Given the description of an element on the screen output the (x, y) to click on. 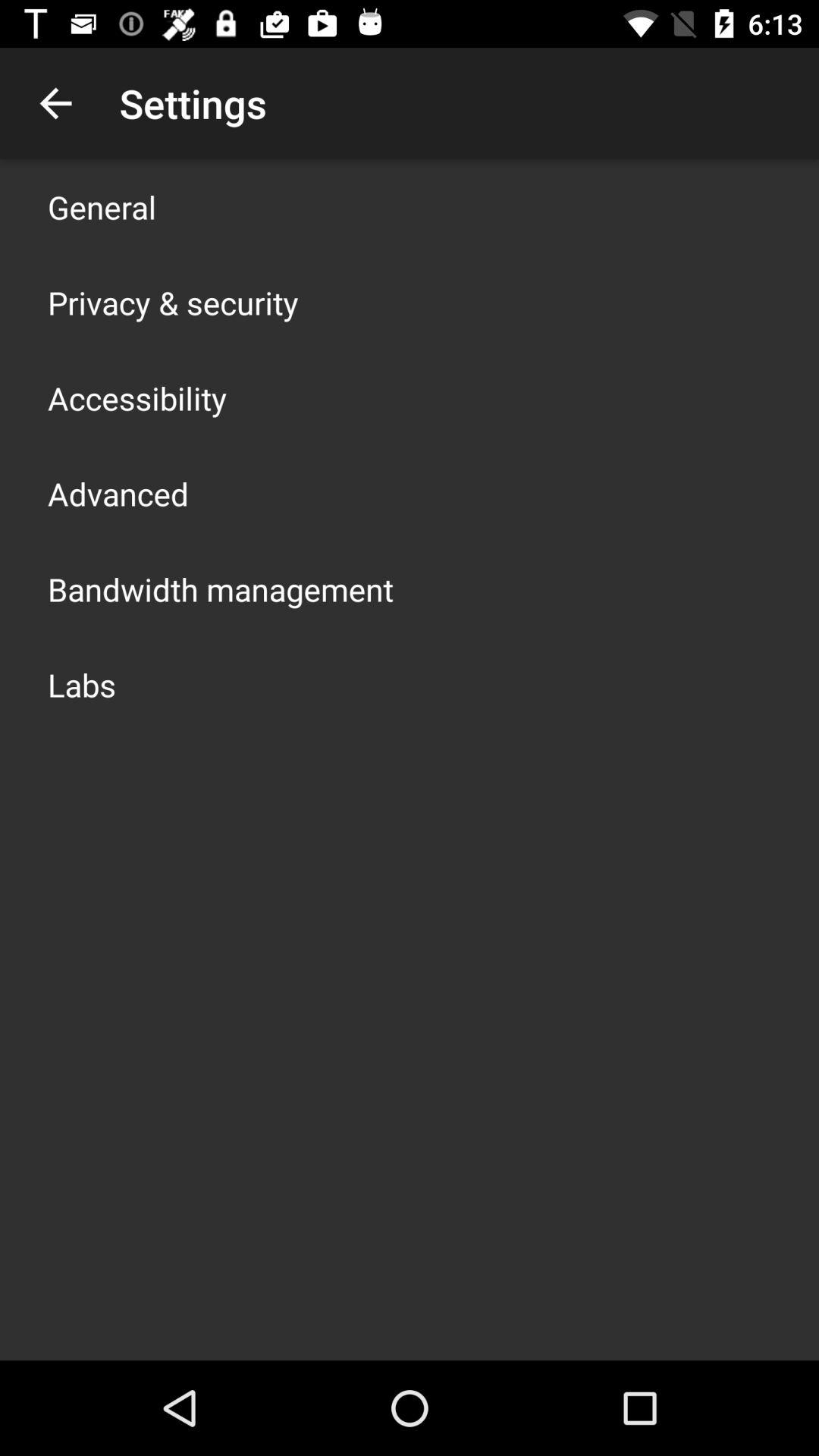
click the icon below the privacy & security app (136, 397)
